Given the description of an element on the screen output the (x, y) to click on. 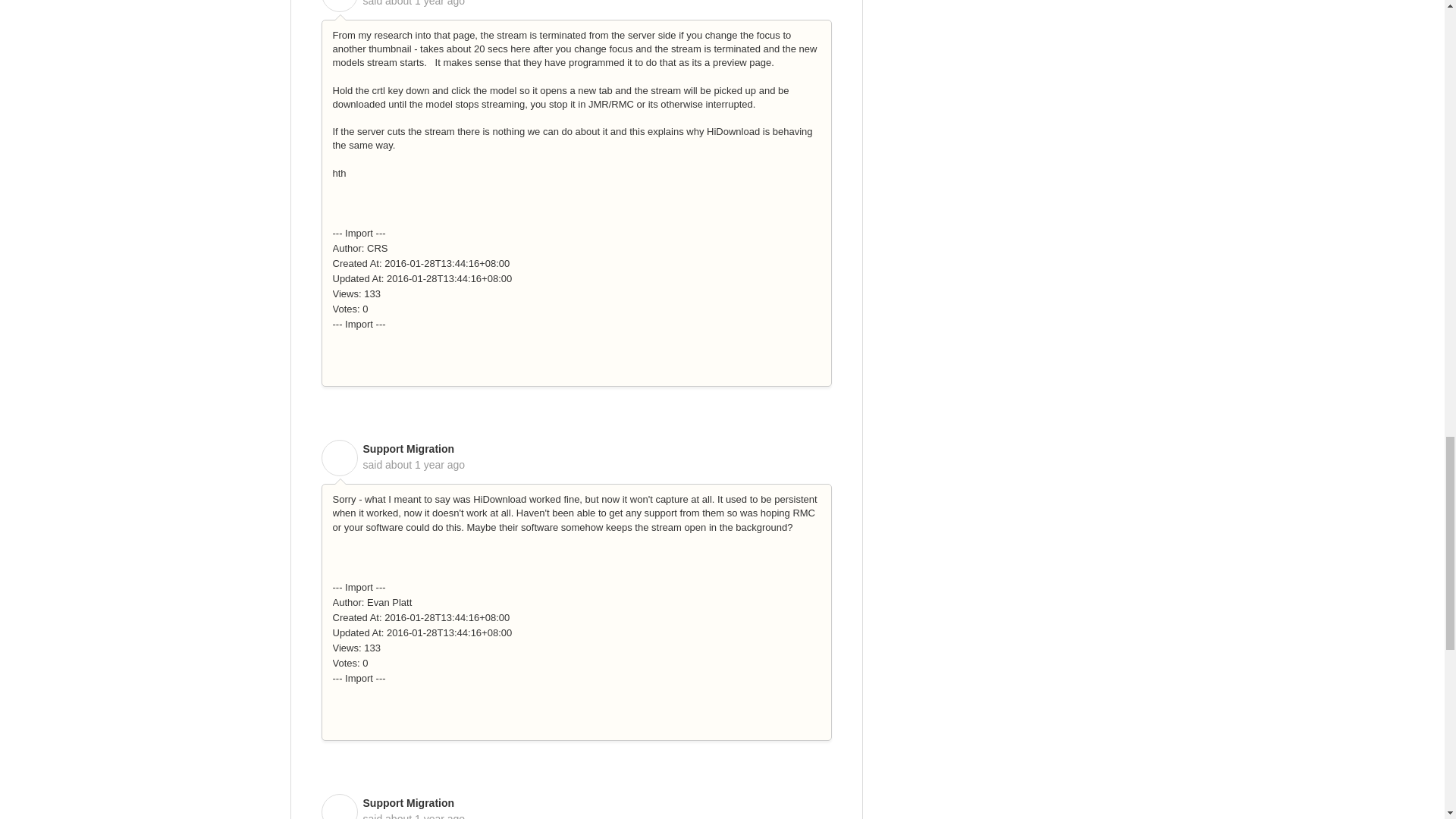
Mon, 8 May, 2023 at  1:19 AM (424, 464)
Mon, 8 May, 2023 at  1:19 AM (424, 2)
Mon, 8 May, 2023 at  1:19 AM (424, 816)
